Given the description of an element on the screen output the (x, y) to click on. 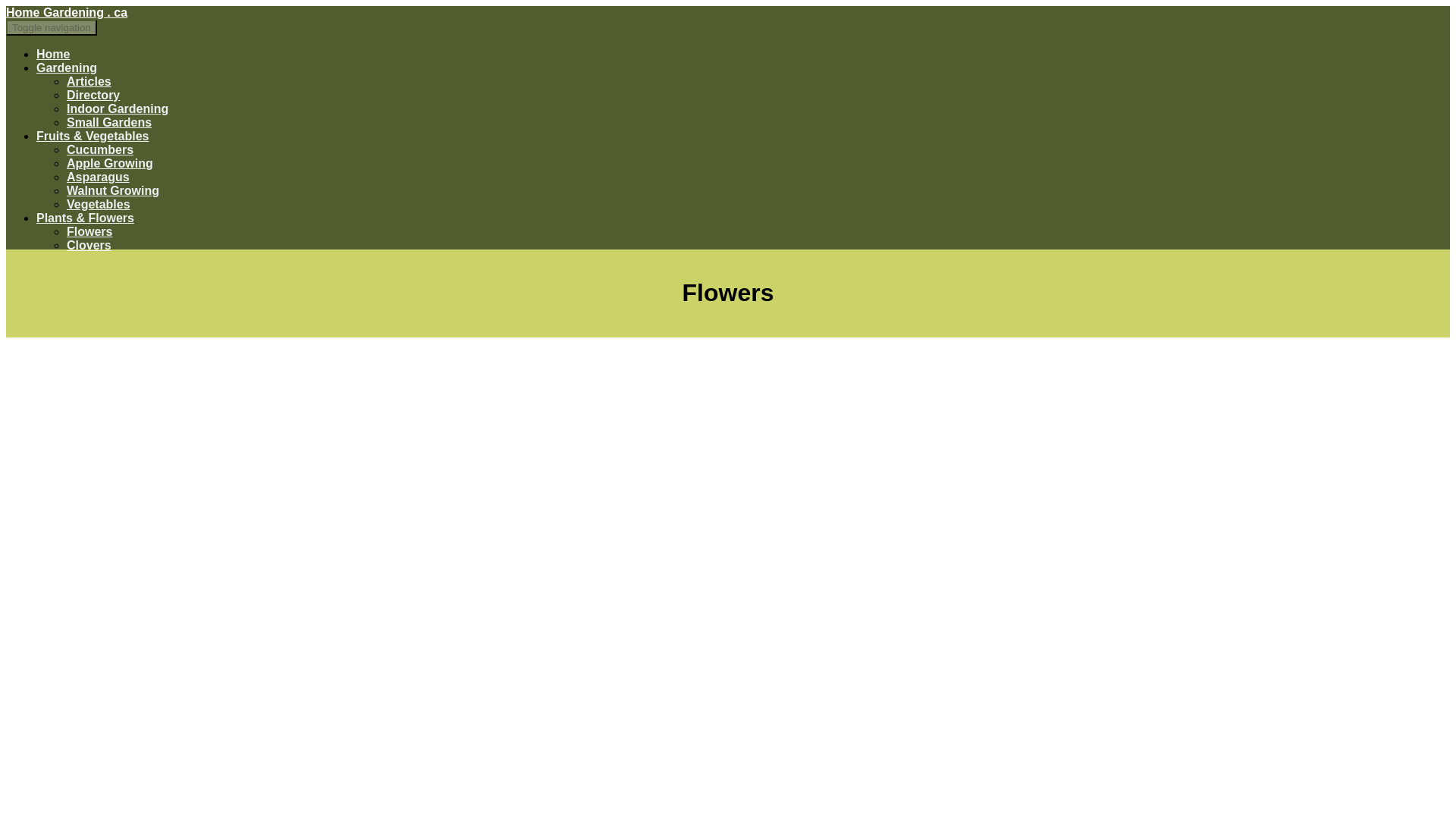
Toggle navigation (51, 27)
Indoor Gardening (117, 108)
Directory (92, 94)
Walnut Growing (112, 190)
Apple Growing (109, 163)
Asparagus (97, 176)
Gardening (66, 67)
Vegetables (98, 204)
Articles (89, 81)
Cucumbers (99, 149)
Small Gardens (108, 122)
Home (52, 53)
Home Gardening . ca (66, 11)
Clovers (89, 245)
Flowers (89, 231)
